Given the description of an element on the screen output the (x, y) to click on. 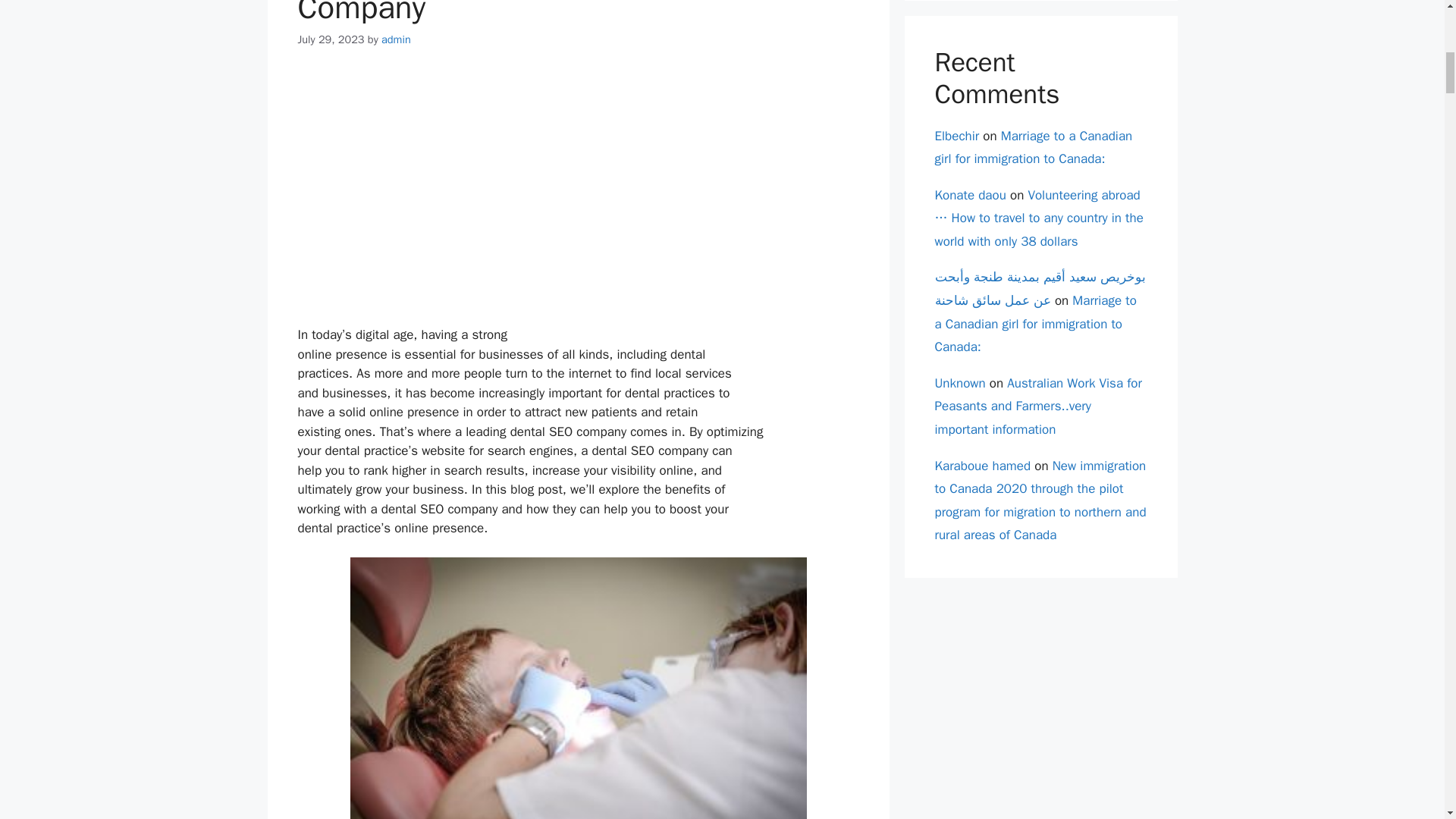
Unknown (959, 383)
Elbechir (956, 135)
Marriage to a Canadian girl for immigration to Canada: (1033, 147)
Konate daou (970, 195)
View all posts by admin (395, 38)
Karaboue hamed (982, 465)
admin (395, 38)
Marriage to a Canadian girl for immigration to Canada: (1034, 323)
